Given the description of an element on the screen output the (x, y) to click on. 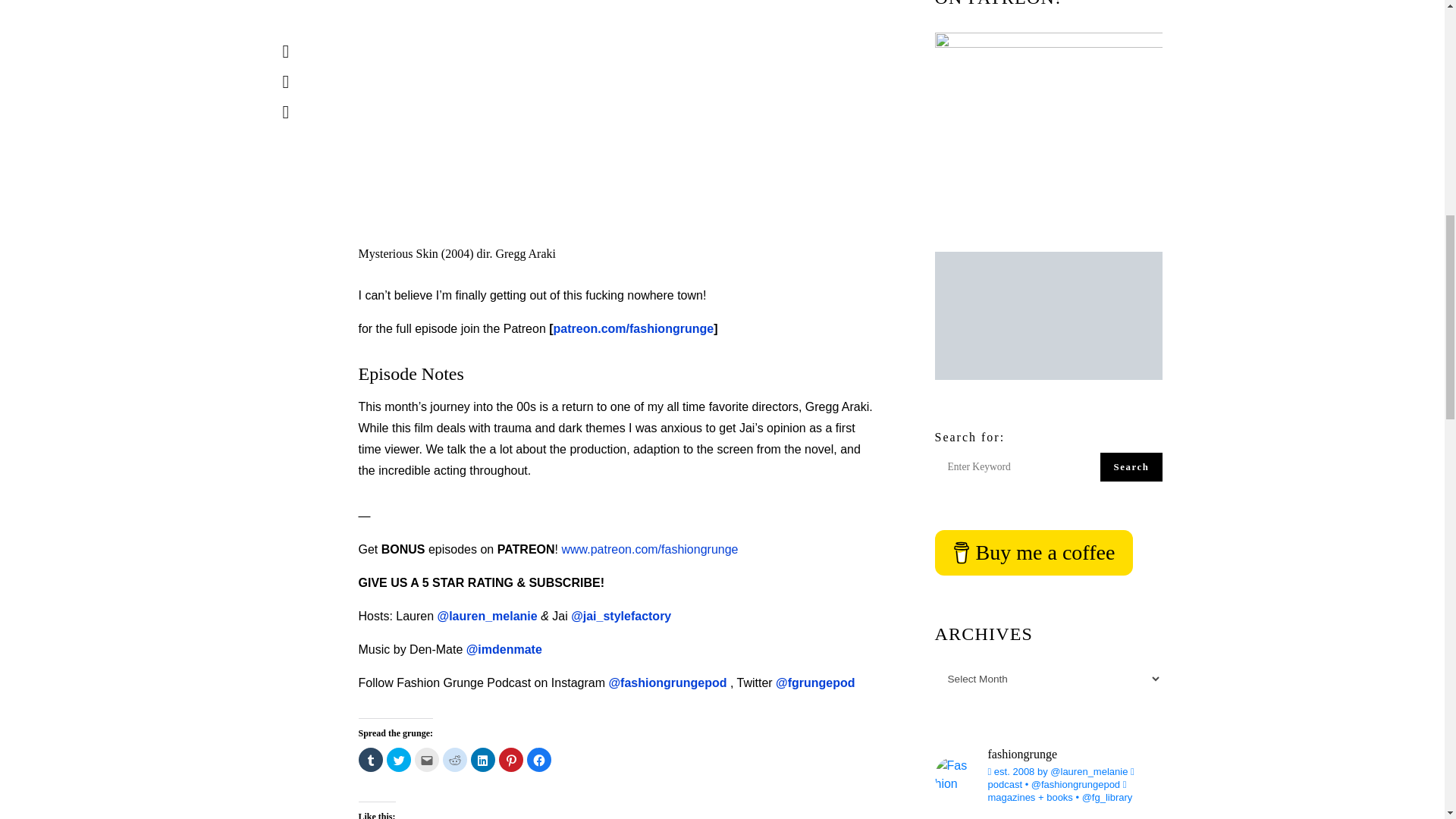
Click to share on Pinterest (510, 759)
Click to share on Facebook (537, 759)
Click to share on Twitter (398, 759)
Click to share on Tumblr (369, 759)
Click to email this to a friend (425, 759)
Click to share on LinkedIn (482, 759)
Click to share on Reddit (454, 759)
